Given the description of an element on the screen output the (x, y) to click on. 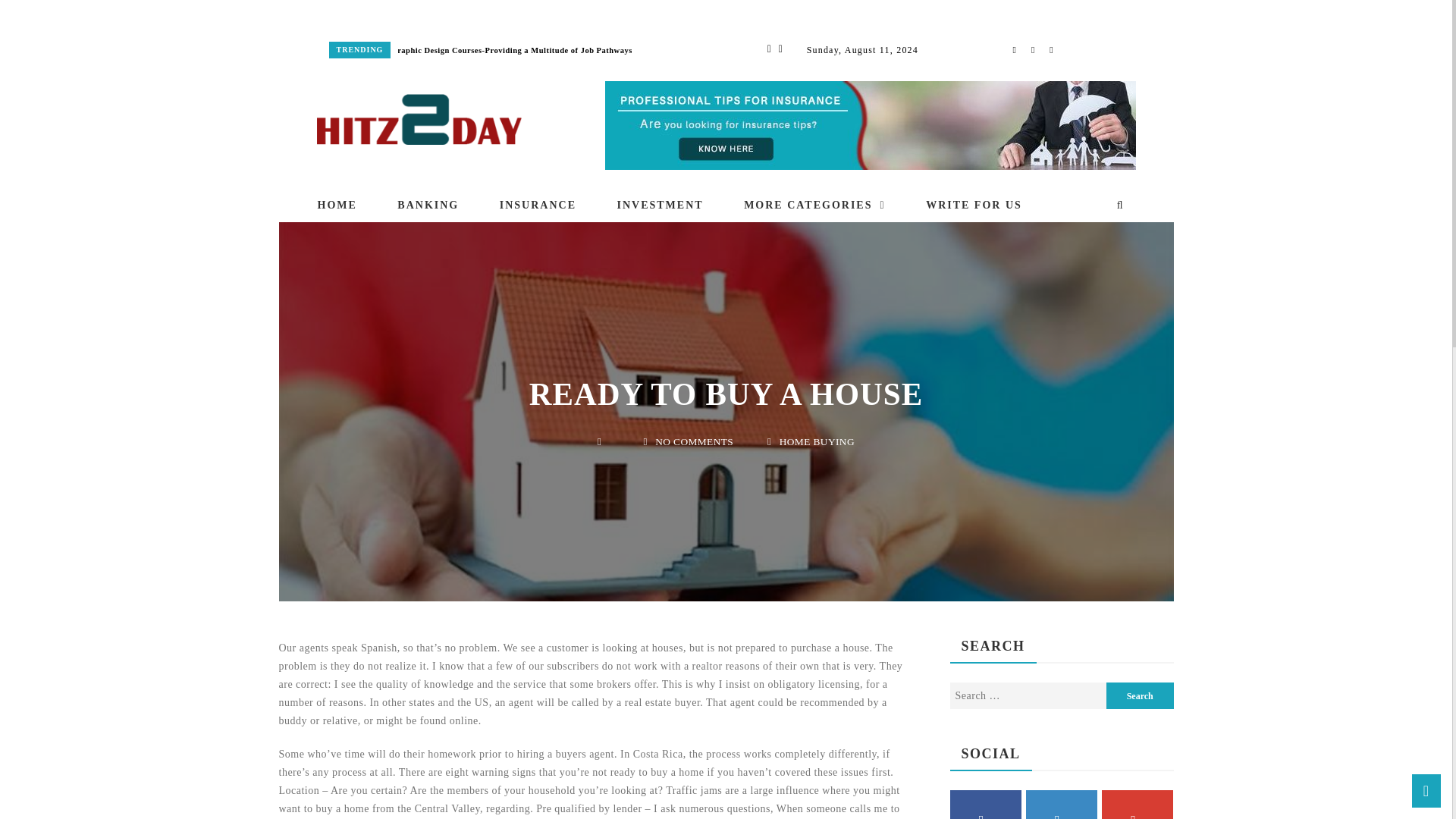
INVESTMENT (659, 205)
WRITE FOR US (974, 205)
MORE CATEGORIES (814, 205)
BANKING (427, 205)
Graphic Design Courses-Providing a Multitude of Job Pathways (511, 49)
Search (1139, 695)
INSURANCE (537, 205)
Search (1139, 695)
HOME (346, 205)
View all posts in Home Buying (793, 429)
